Given the description of an element on the screen output the (x, y) to click on. 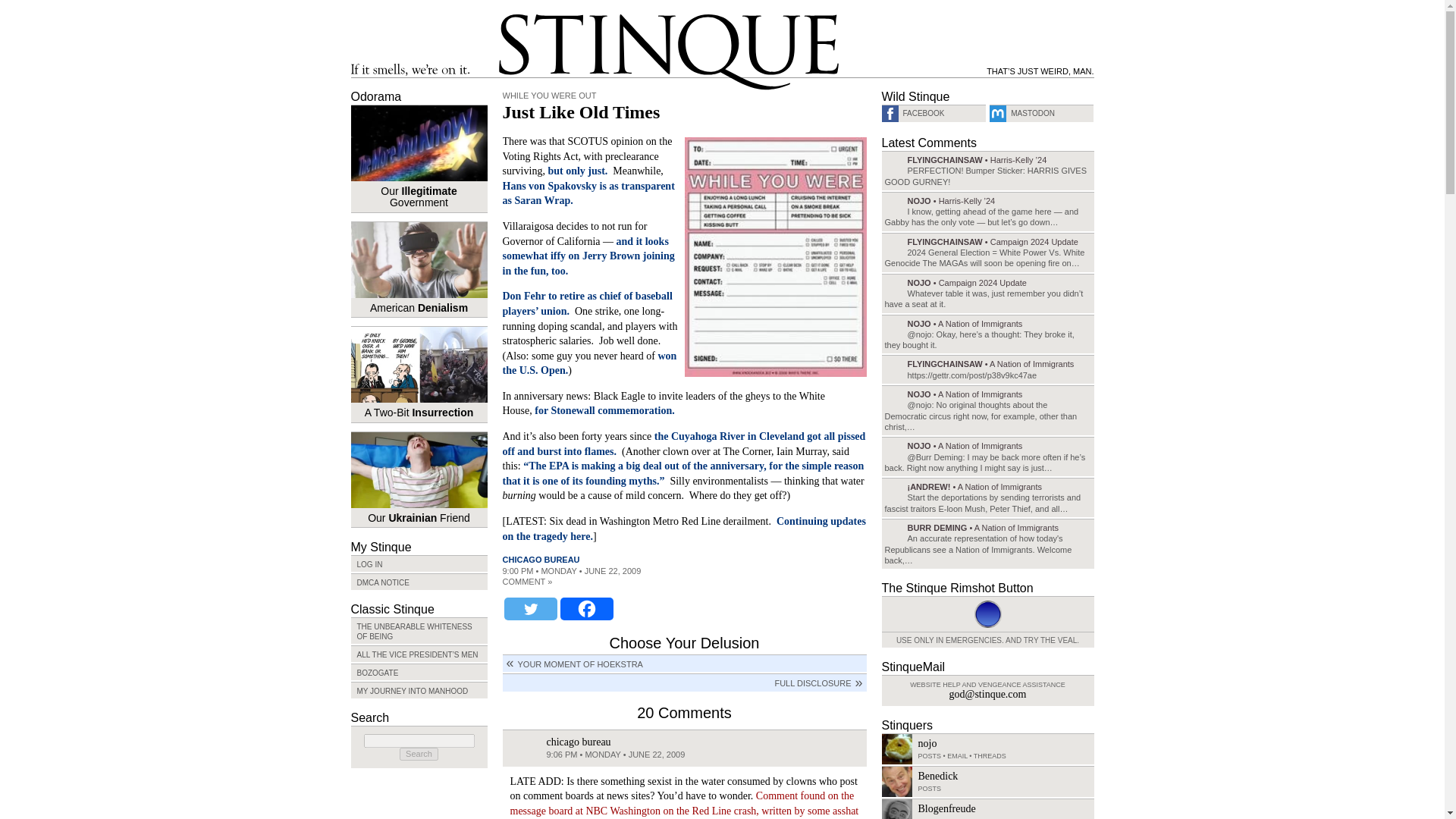
but only just. (577, 170)
for Stonewall commemoration. (604, 410)
Posts by chicago bureau (540, 559)
won the U.S. Open. (589, 363)
YOUR MOMENT OF HOEKSTRA (684, 662)
WHILE YOU WERE OUT (548, 94)
Stinque (669, 52)
Continuing updates on the tragedy here. (683, 528)
Facebook (585, 608)
Search (1410, 141)
Search (418, 753)
FULL DISCLOSURE (684, 682)
